Given the description of an element on the screen output the (x, y) to click on. 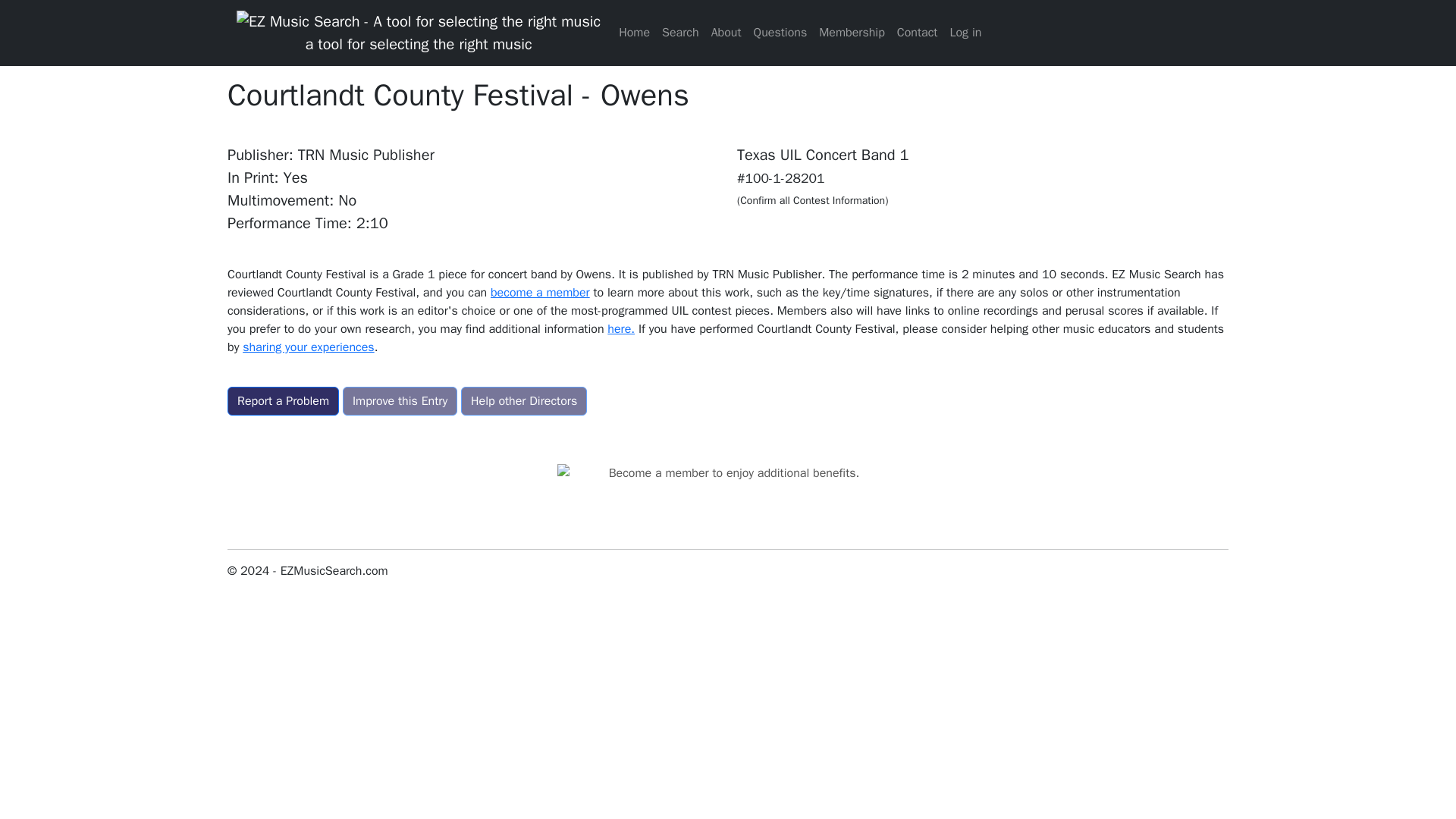
Home (634, 32)
become a member (539, 292)
Log in (965, 32)
Search (680, 32)
sharing your experiences (308, 346)
About (726, 32)
Questions (780, 32)
Report a Problem (283, 400)
a tool for selecting the right music (417, 32)
here. (620, 328)
